Given the description of an element on the screen output the (x, y) to click on. 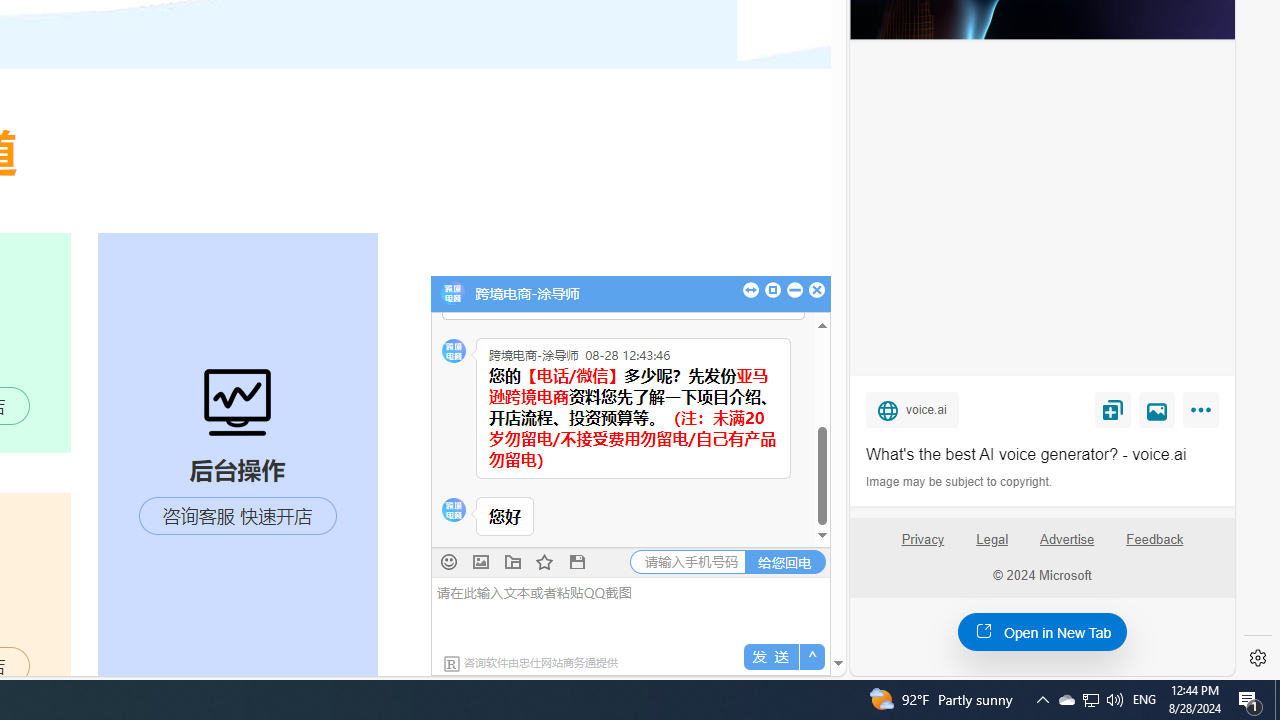
View image (1157, 409)
Open in New Tab (1042, 631)
Legal (992, 547)
Legal (991, 539)
voice.ai (912, 409)
Image may be subject to copyright. (959, 481)
